Given the description of an element on the screen output the (x, y) to click on. 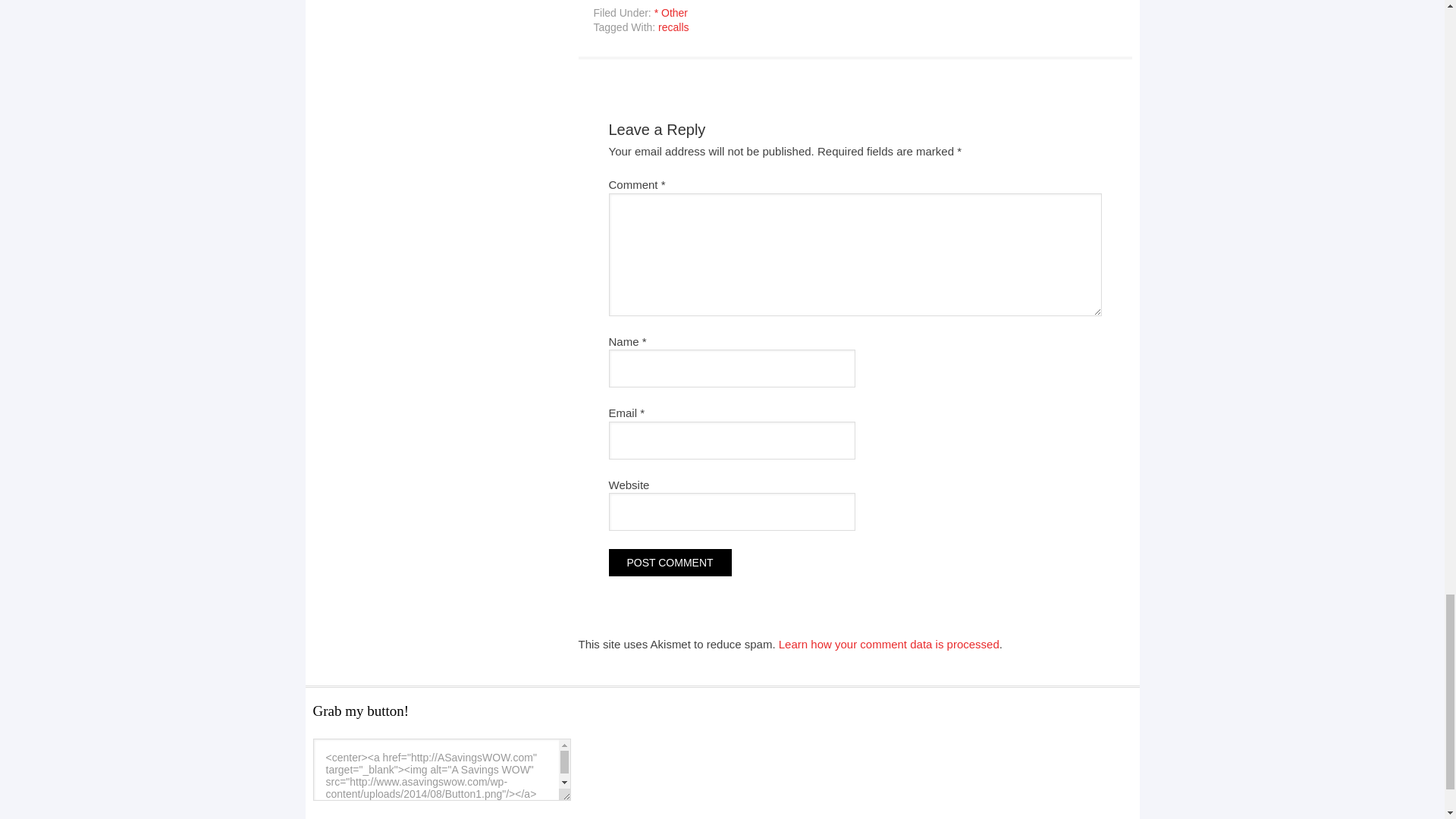
Post Comment (669, 562)
